Given the description of an element on the screen output the (x, y) to click on. 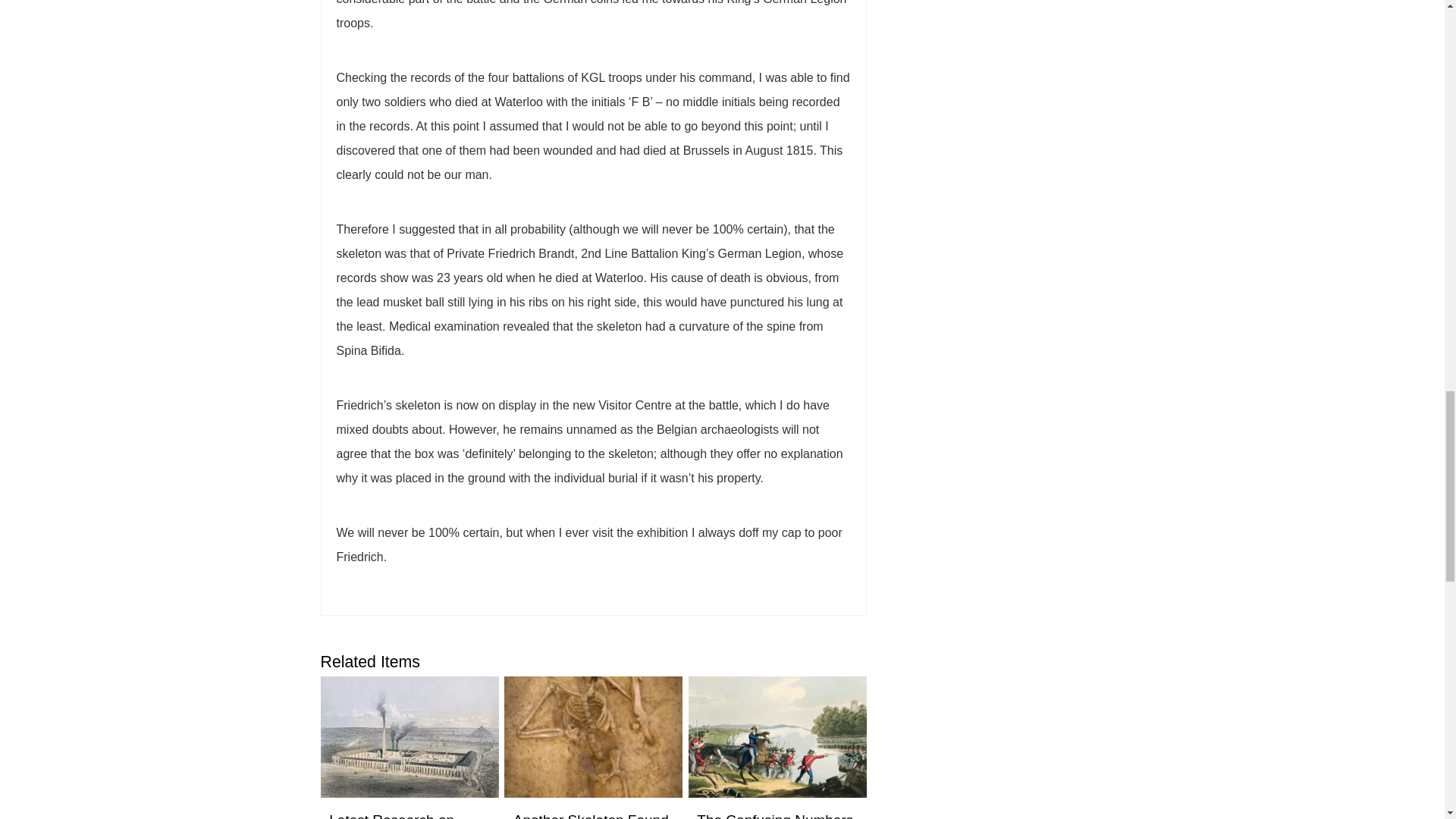
Latest Research on where the Mass Graves went (405, 815)
The Confusing Numbers Game!!! (775, 815)
Another Skeleton Found (590, 815)
